Given the description of an element on the screen output the (x, y) to click on. 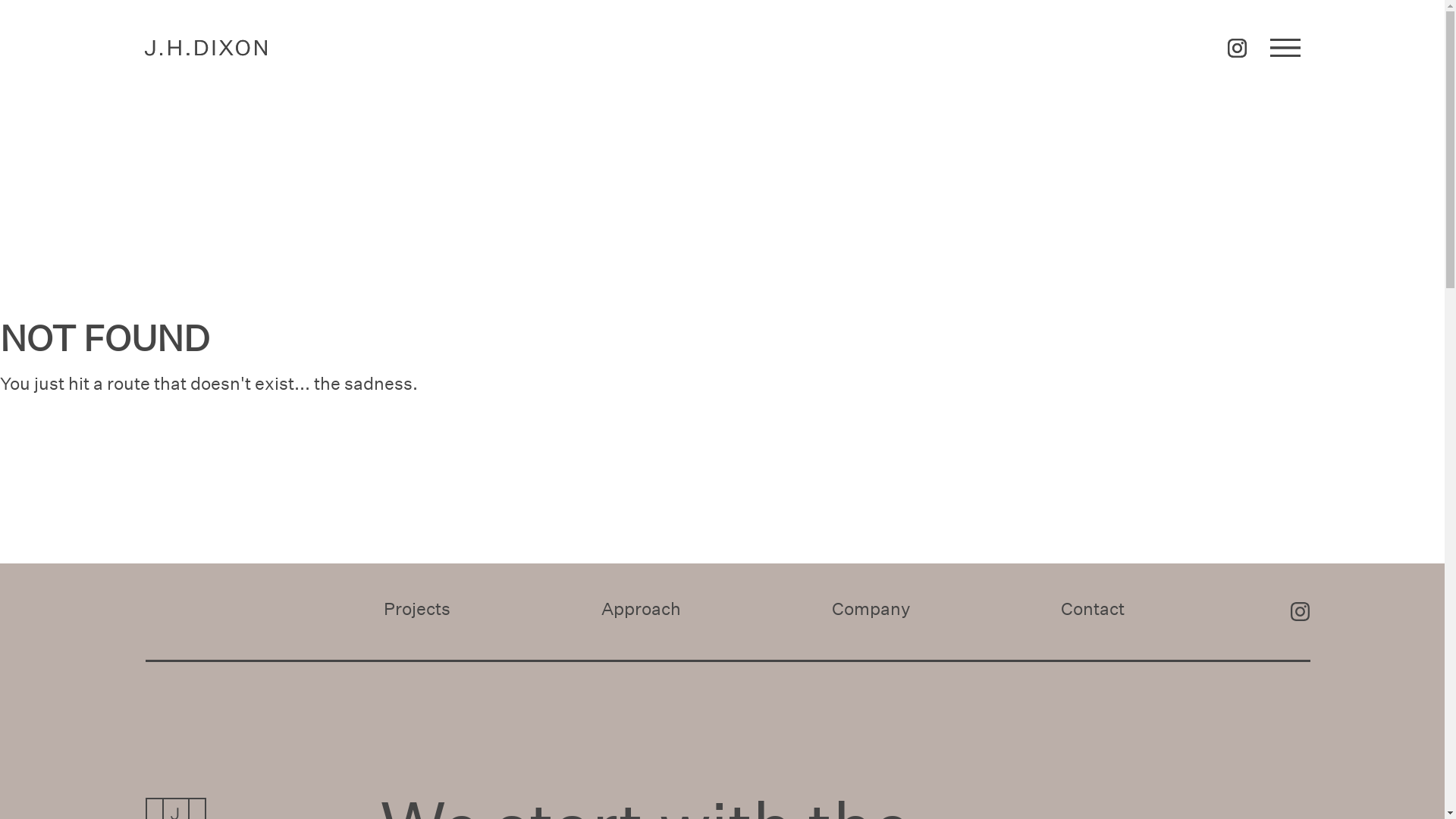
Contact Element type: text (1092, 608)
Approach Element type: text (640, 608)
Projects Element type: text (416, 608)
Company Element type: text (870, 608)
